Given the description of an element on the screen output the (x, y) to click on. 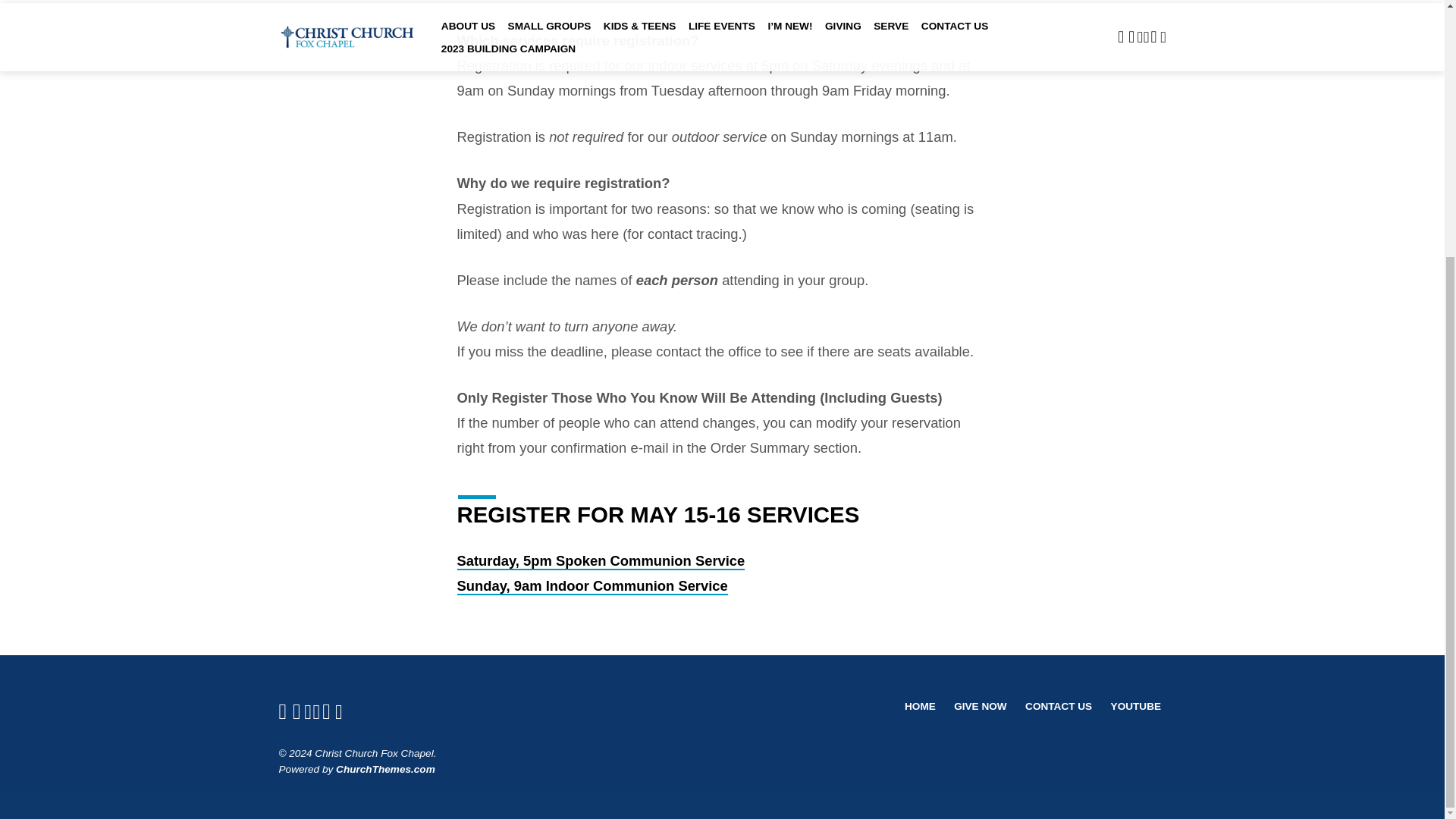
Facebook (282, 711)
YouTube (296, 711)
Podcast (316, 711)
Google Play (338, 711)
App Store (325, 711)
Podcast (307, 711)
